Given the description of an element on the screen output the (x, y) to click on. 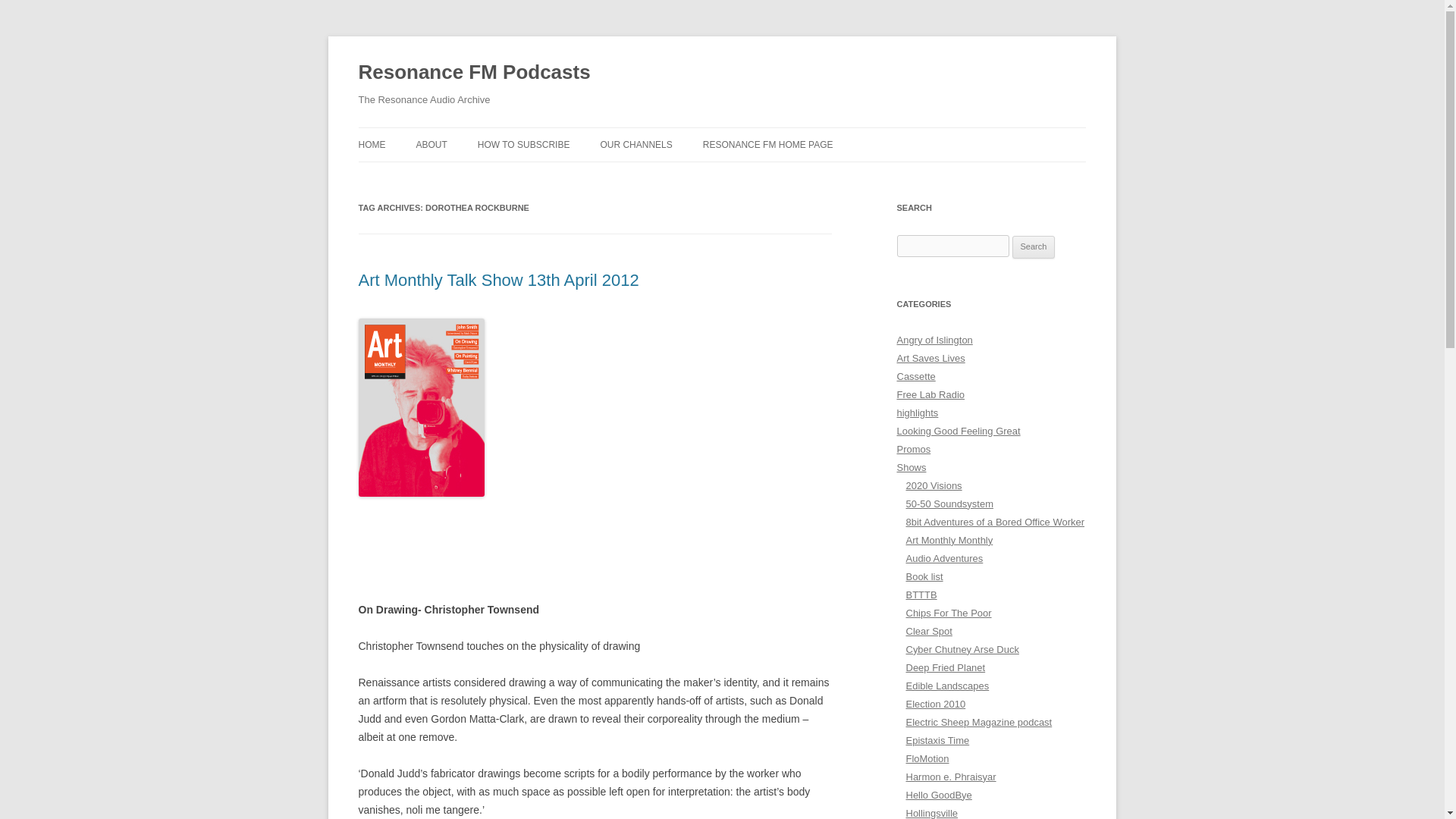
Search (1033, 246)
HOW TO SUBSCRIBE (523, 144)
ABOUT (430, 144)
Promos for our shows. (913, 449)
Resonance FM Podcasts (473, 72)
OUR CHANNELS (635, 144)
Resonance FM Podcasts (473, 72)
Regular broadcasts on Resonance FM (911, 467)
Art Monthly Talk Show 13th April 2012 (498, 280)
RESONANCE FM HOME PAGE (767, 144)
